Given the description of an element on the screen output the (x, y) to click on. 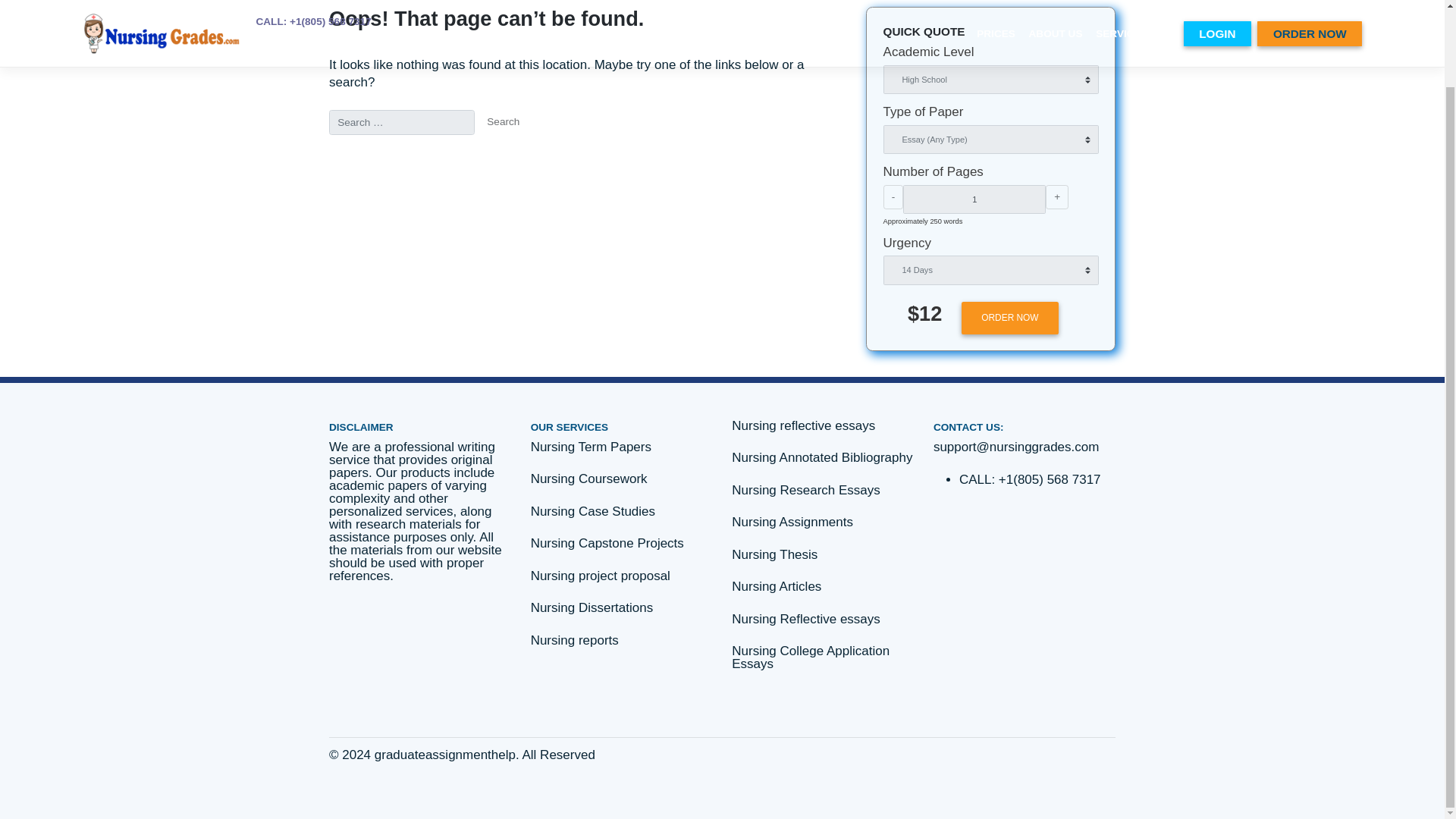
Search (591, 158)
Search (591, 158)
Search for: (473, 158)
Search (591, 158)
1 (1146, 249)
ORDER NOW (1188, 389)
